Given the description of an element on the screen output the (x, y) to click on. 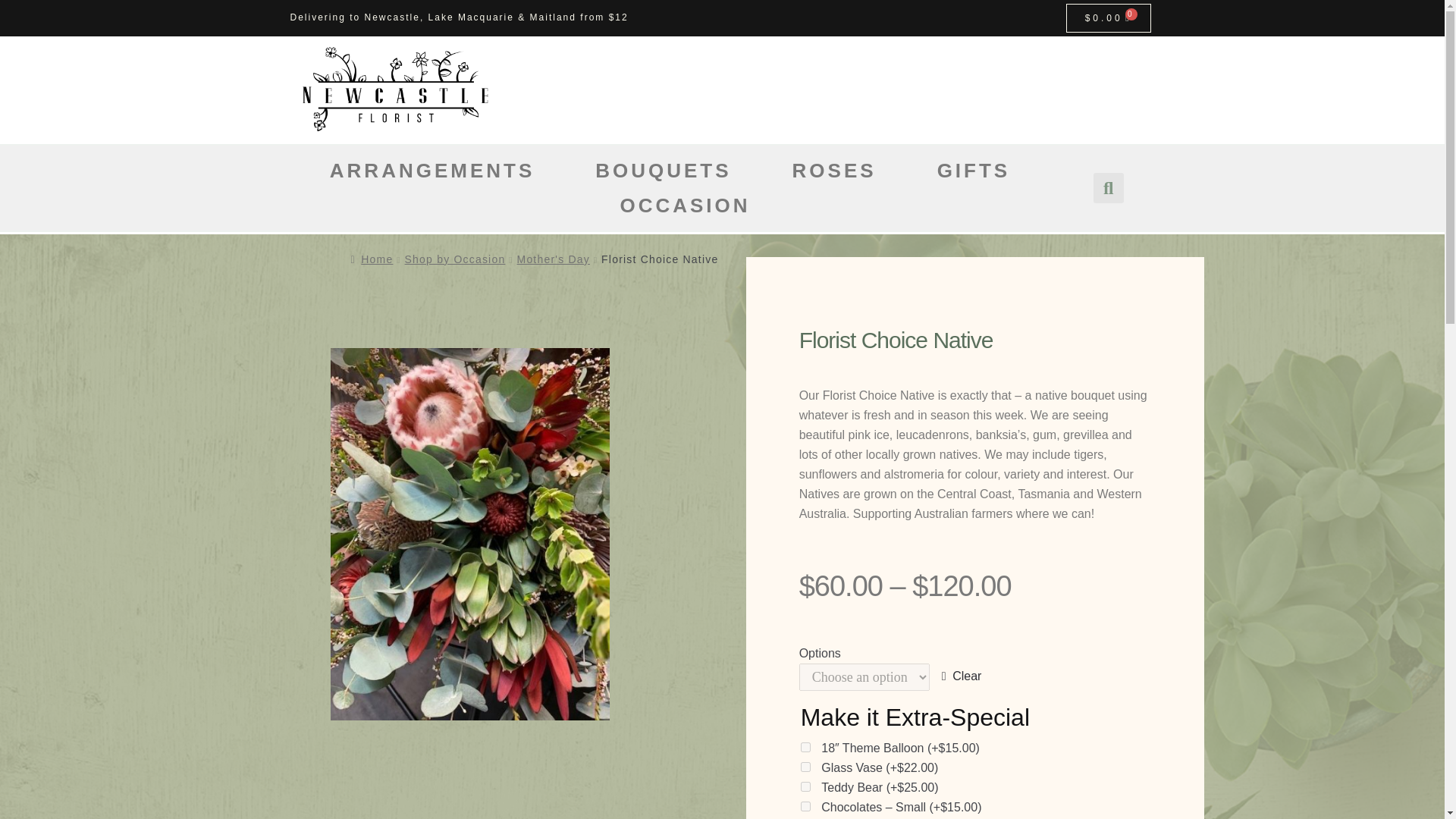
glass-vase (805, 767)
Home (371, 259)
18-theme-balloon (805, 747)
native 2 website (470, 534)
OCCASION (684, 205)
ARRANGEMENTS (432, 170)
chocolates-small (805, 806)
teddy-bear (805, 786)
ROSES (834, 170)
GIFTS (973, 170)
BOUQUETS (662, 170)
